Given the description of an element on the screen output the (x, y) to click on. 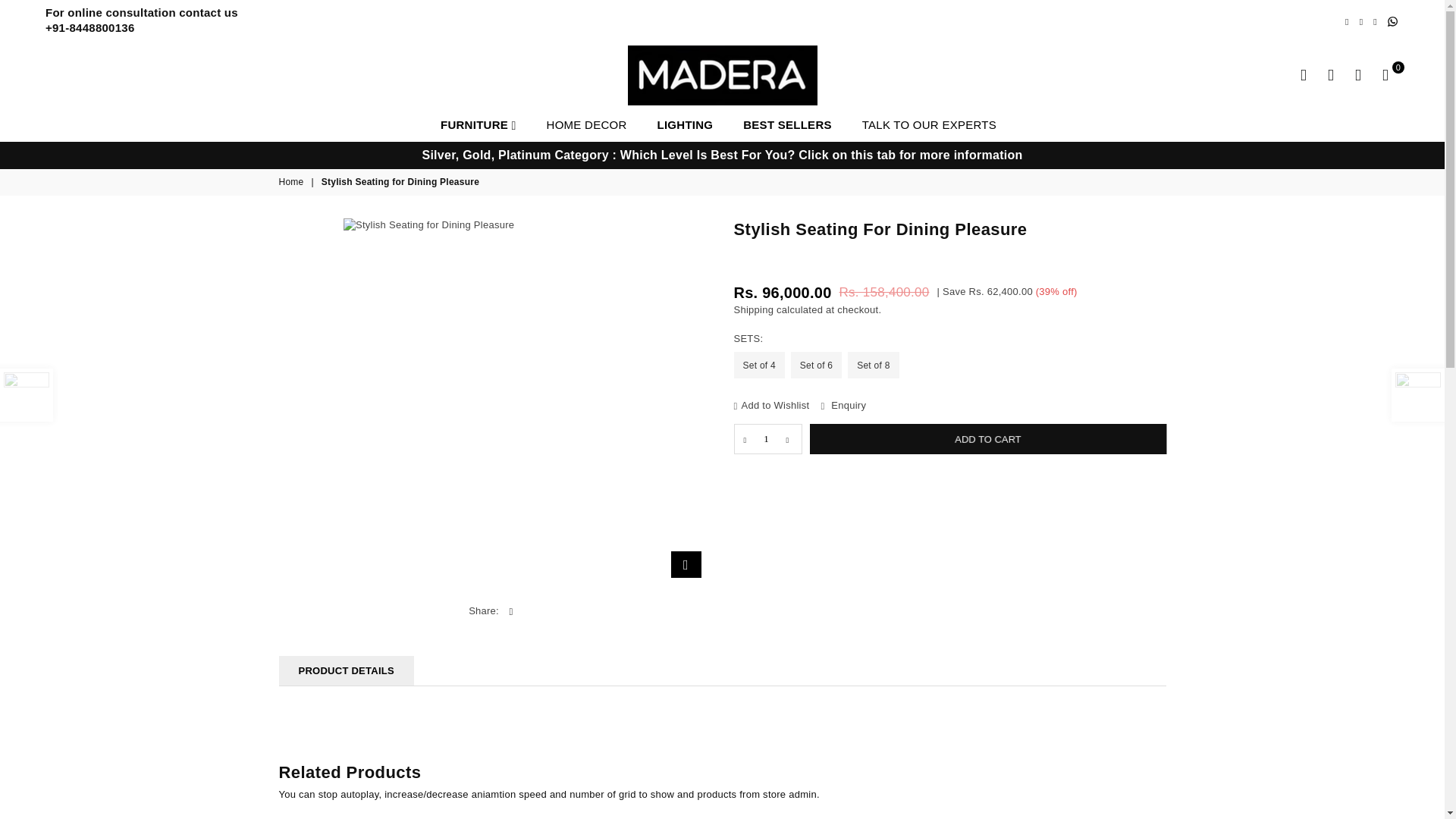
Previous Product (26, 394)
FURNITURE (478, 124)
Settings (1330, 74)
Wishlist (1357, 74)
Cart (1385, 74)
YouTube (1374, 21)
Instagram (1361, 21)
Quantity (767, 439)
Whatsapp (1392, 20)
Facebook (1346, 21)
